Given the description of an element on the screen output the (x, y) to click on. 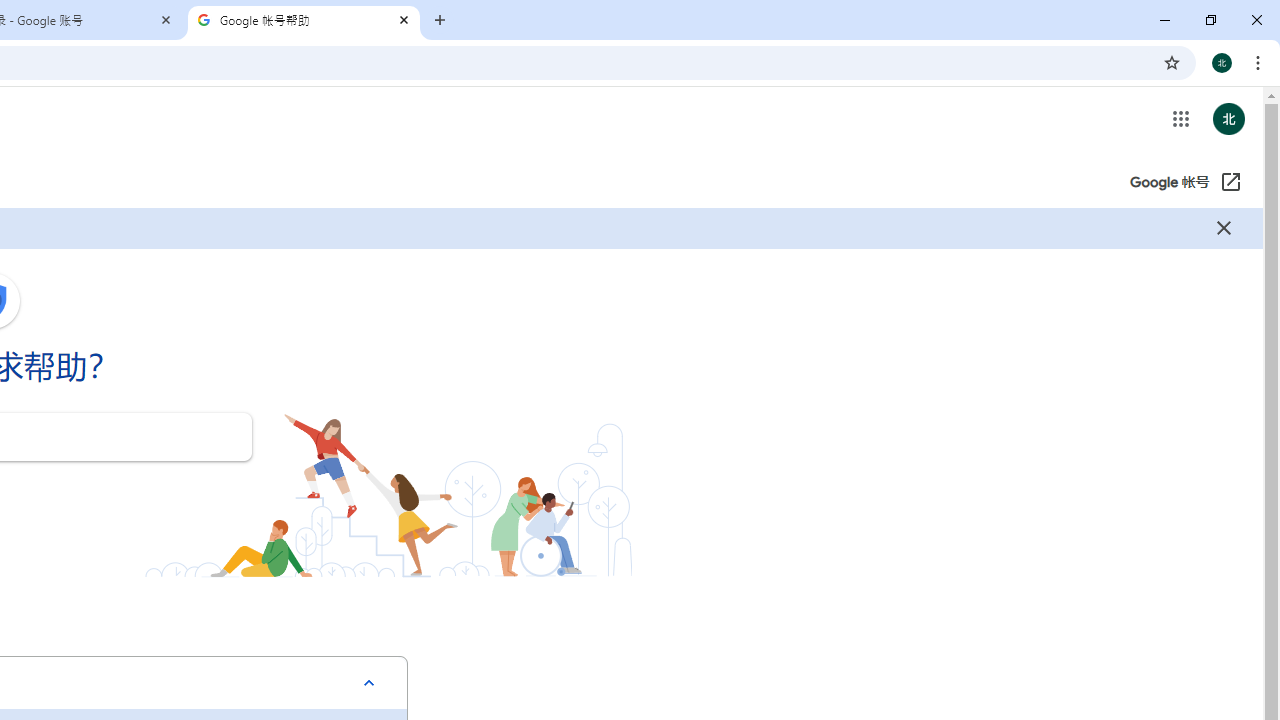
Restore (1210, 20)
Minimize (1165, 20)
New Tab (440, 20)
Chrome (1260, 62)
Bookmark this tab (1171, 62)
